Given the description of an element on the screen output the (x, y) to click on. 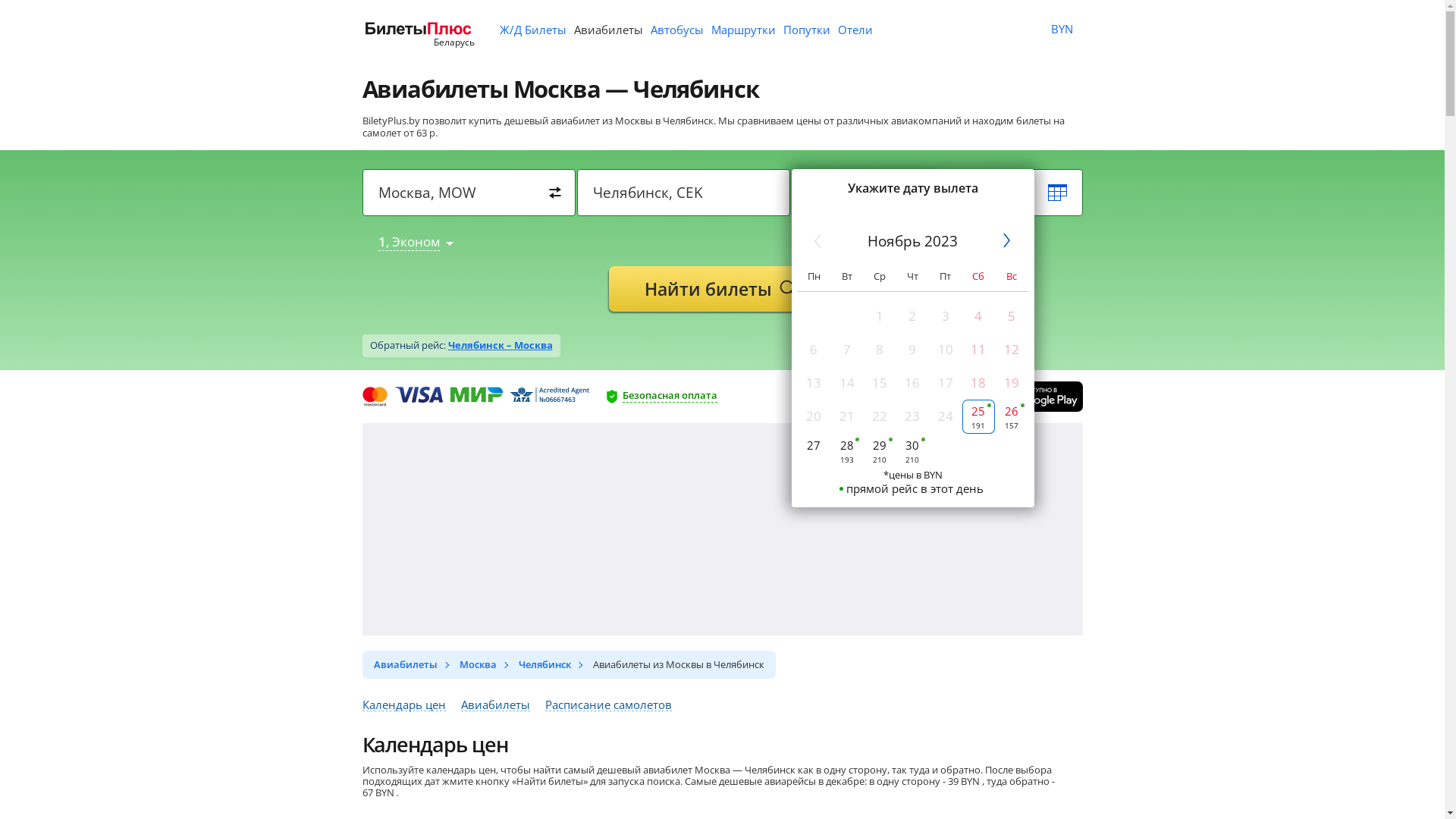
30 Element type: text (912, 450)
29 Element type: text (878, 450)
25 Element type: text (978, 416)
26 Element type: text (1010, 416)
27 Element type: text (813, 450)
28 Element type: text (846, 450)
